Given the description of an element on the screen output the (x, y) to click on. 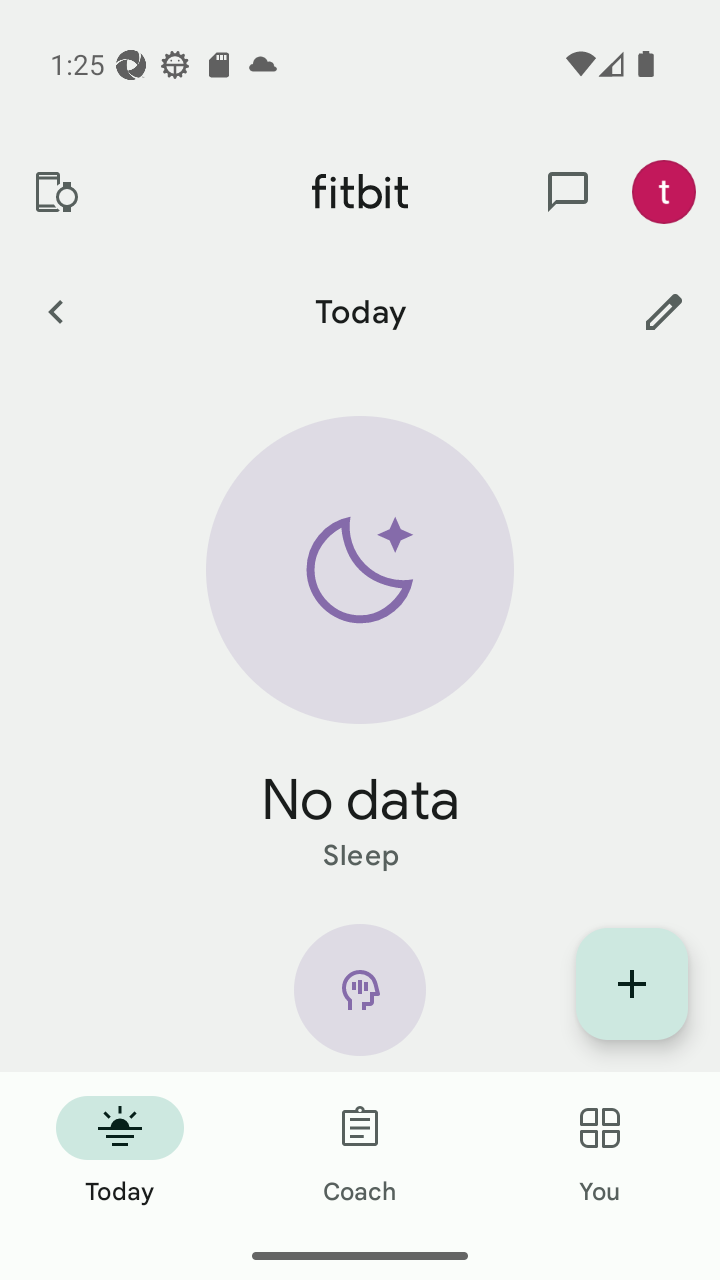
Devices and apps (55, 191)
messages and notifications (567, 191)
Previous Day (55, 311)
Customize (664, 311)
Sleep static hero arc No data Sleep (359, 645)
Mindfulness icon (360, 998)
Display list of quick log entries (632, 983)
Coach (359, 1151)
You (600, 1151)
